Given the description of an element on the screen output the (x, y) to click on. 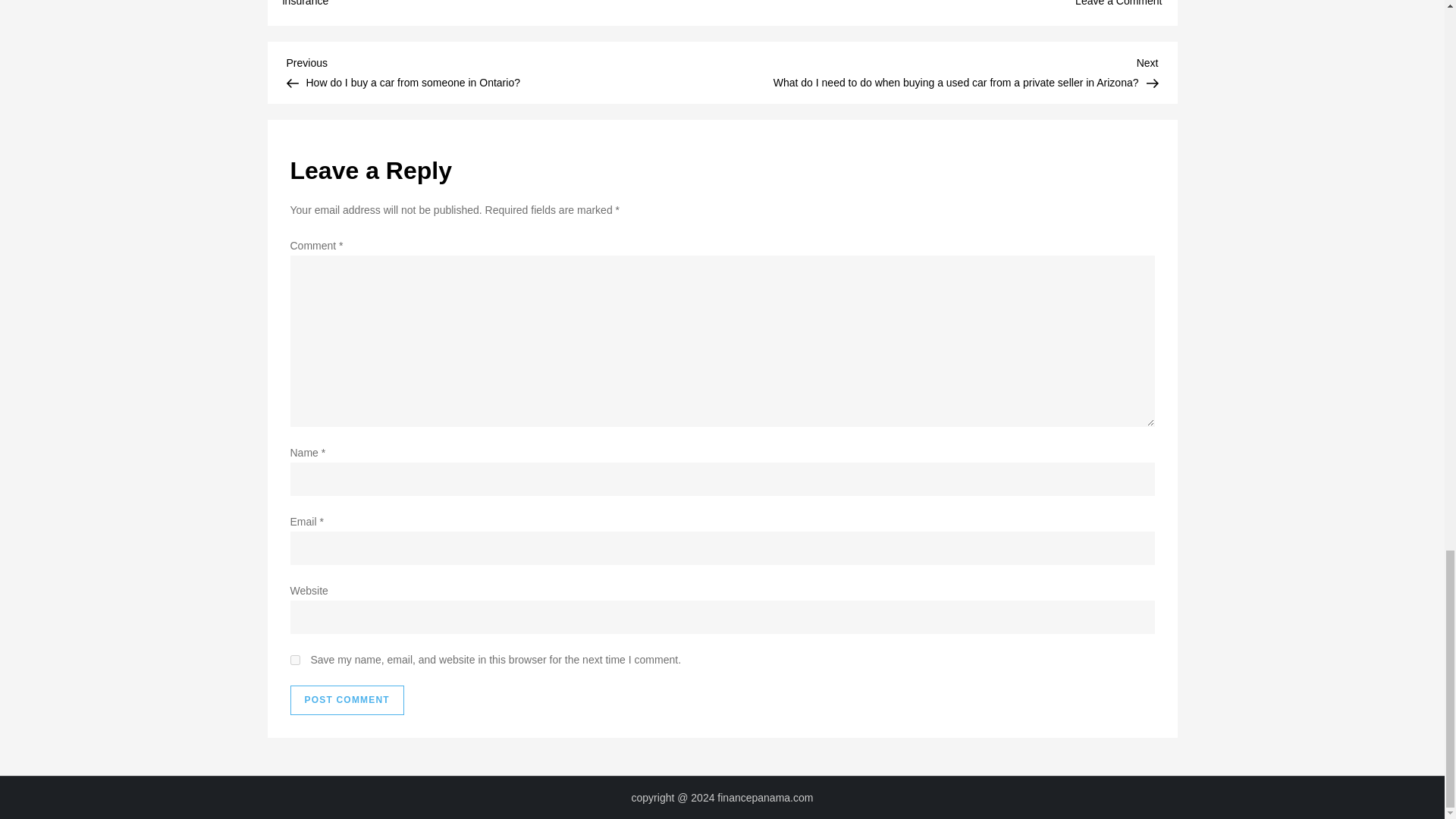
yes (294, 660)
Post Comment (346, 700)
insurance (305, 3)
Post Comment (346, 700)
